Given the description of an element on the screen output the (x, y) to click on. 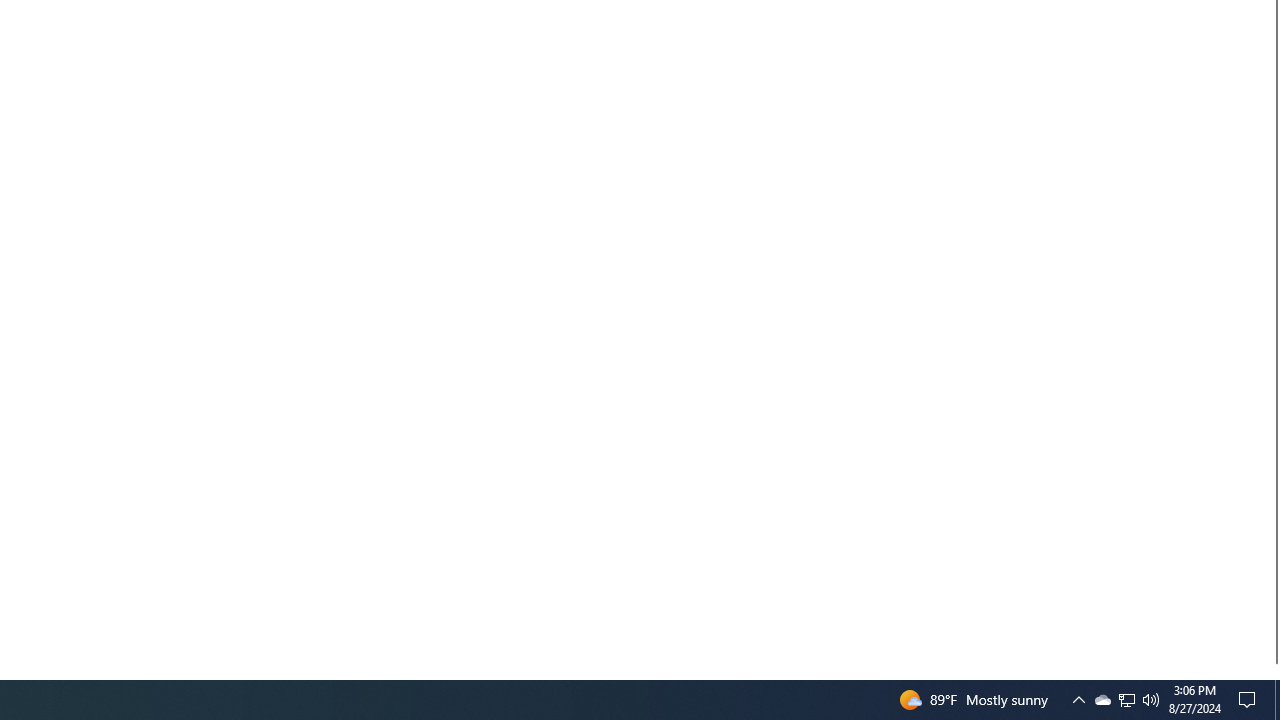
User Promoted Notification Area (1126, 699)
Vertical Small Increase (1272, 671)
Notification Chevron (1078, 699)
Action Center, No new notifications (1250, 699)
Q2790: 100% (1151, 699)
Show desktop (1102, 699)
